Given the description of an element on the screen output the (x, y) to click on. 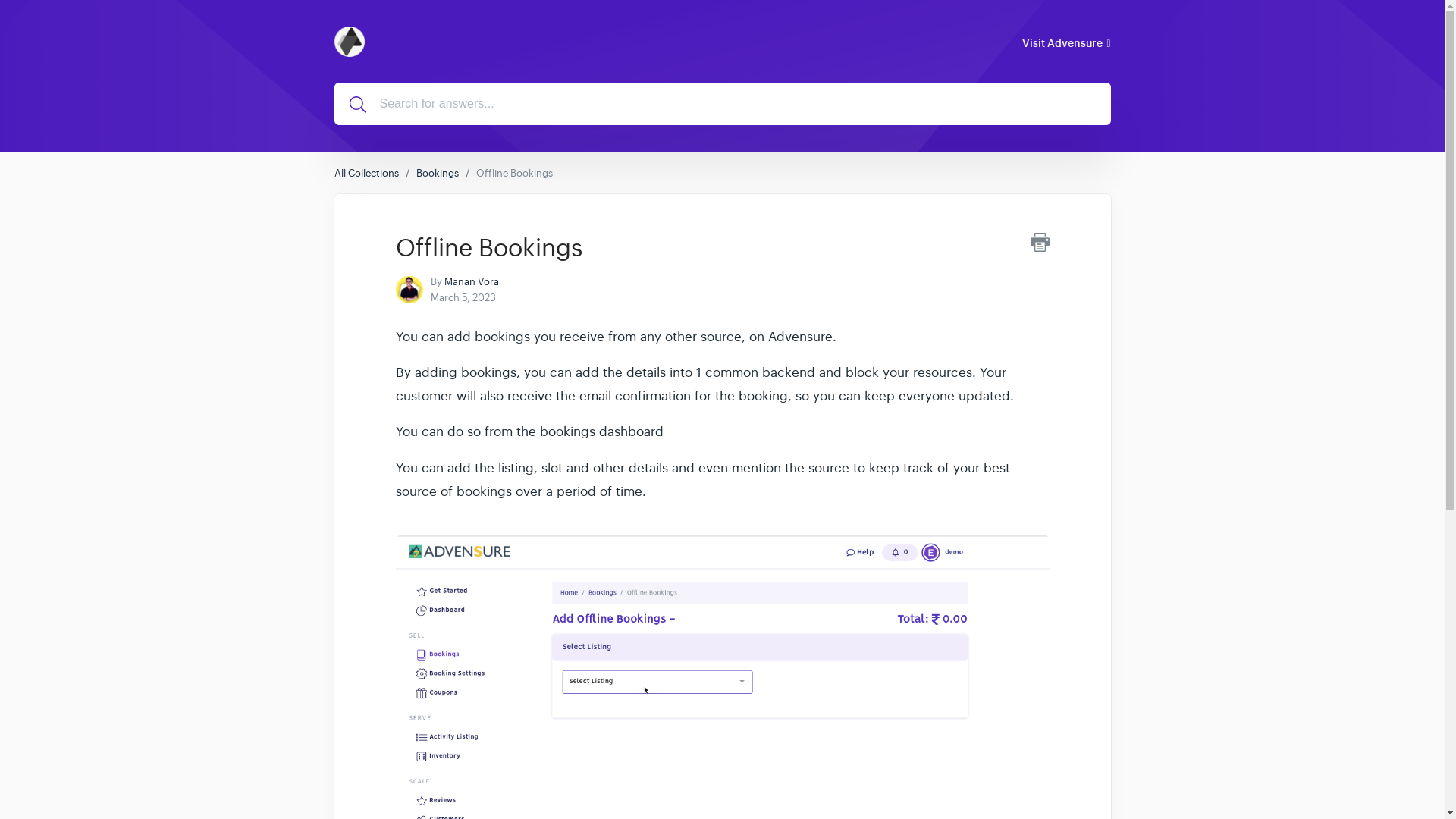
Bookings (436, 173)
All Collections (365, 173)
Visit Advensure (1065, 43)
